Given the description of an element on the screen output the (x, y) to click on. 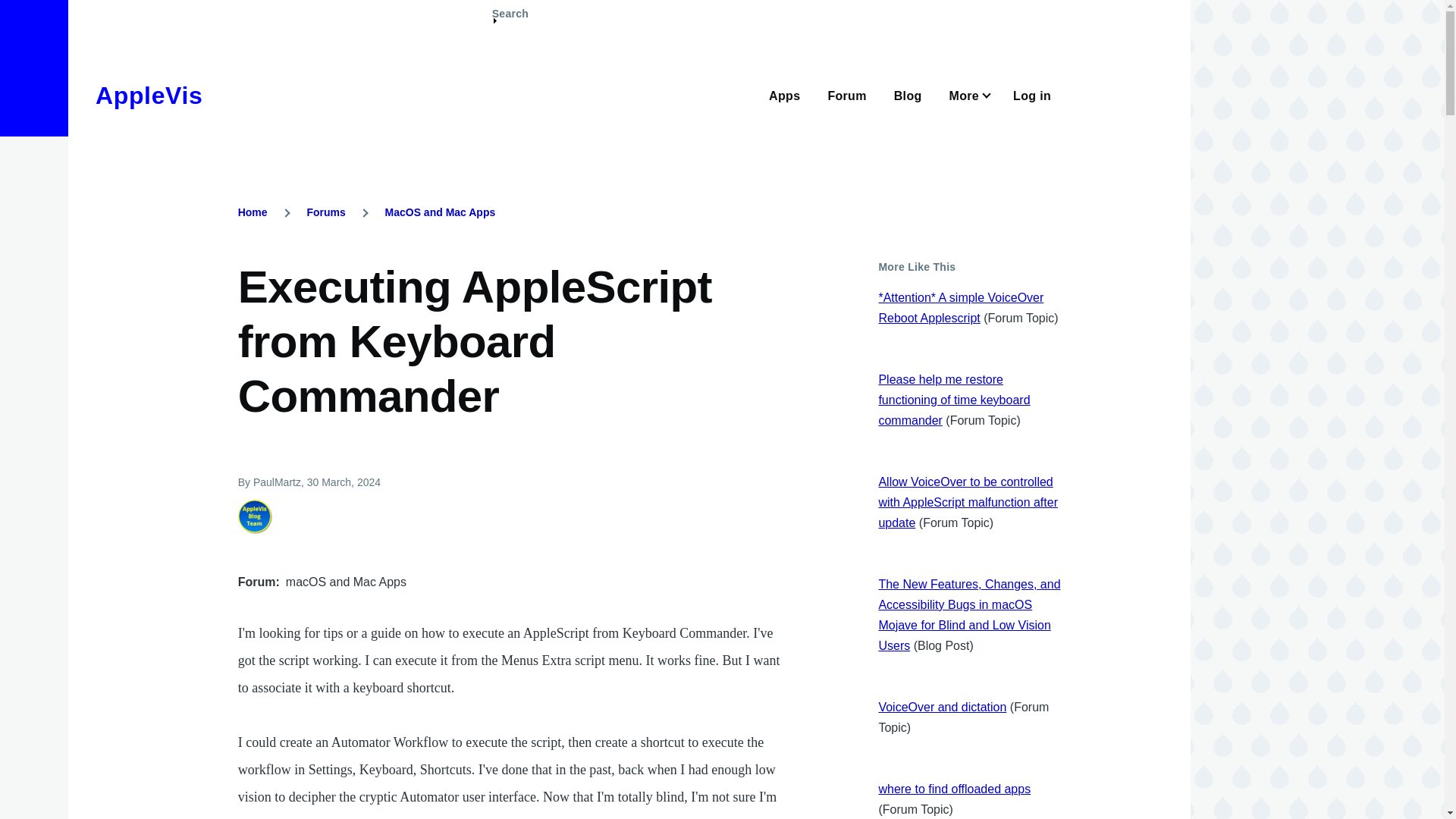
Home (252, 212)
Skip to main content (595, 6)
where to find offloaded apps (953, 788)
Search (510, 20)
Forums (325, 212)
VoiceOver and dictation (941, 707)
MacOS and Mac Apps (440, 212)
Home (149, 94)
AppleVis (149, 94)
